Given the description of an element on the screen output the (x, y) to click on. 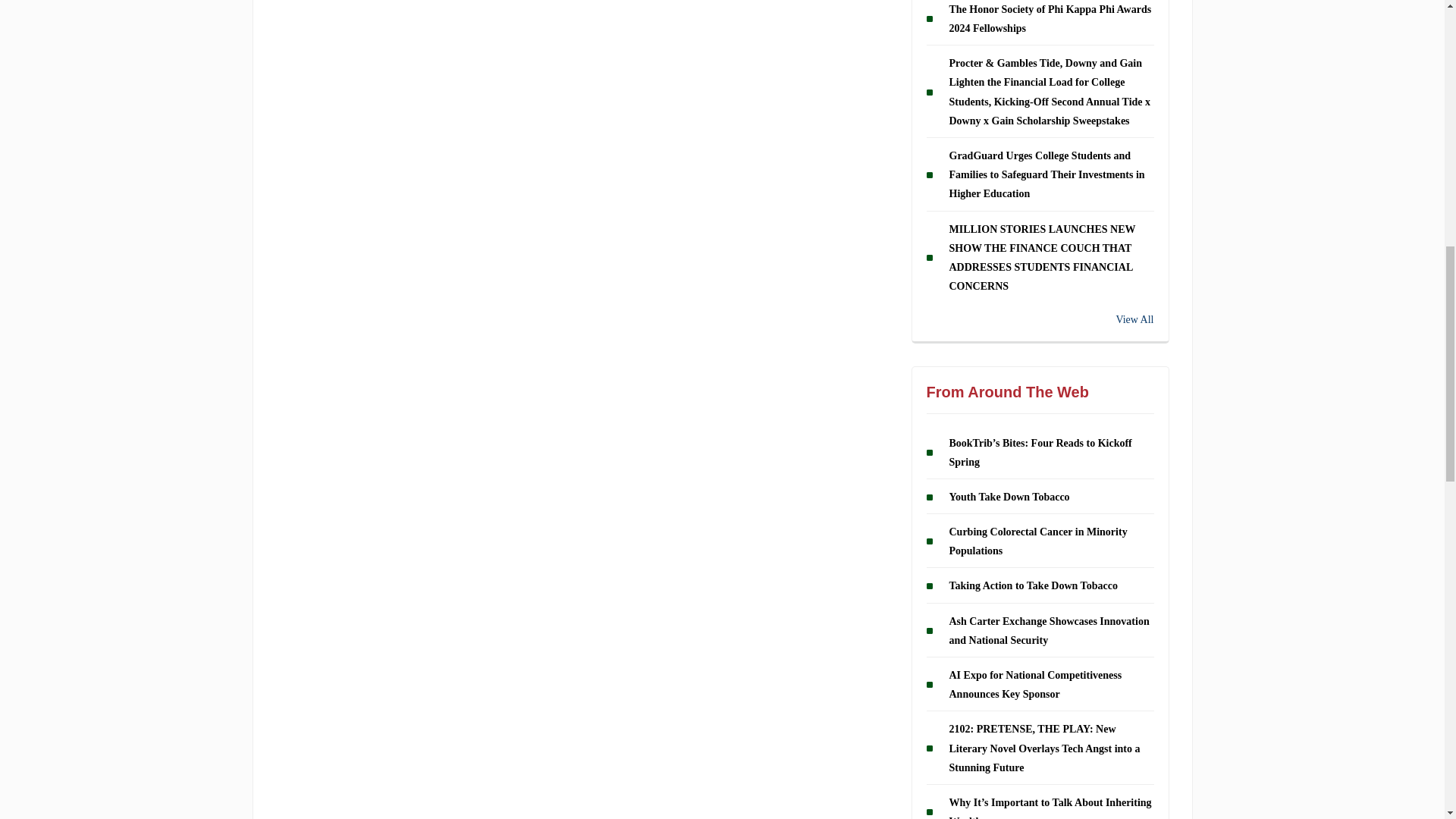
Youth Take Down Tobacco (1009, 346)
AI Expo for National Competitiveness Announces Key Sponsor (1035, 533)
AI Expo for National Competitiveness Announces Key Sponsor (1035, 533)
Curbing Colorectal Cancer in Minority Populations (1037, 390)
Taking Action to Take Down Tobacco (1033, 434)
